Given the description of an element on the screen output the (x, y) to click on. 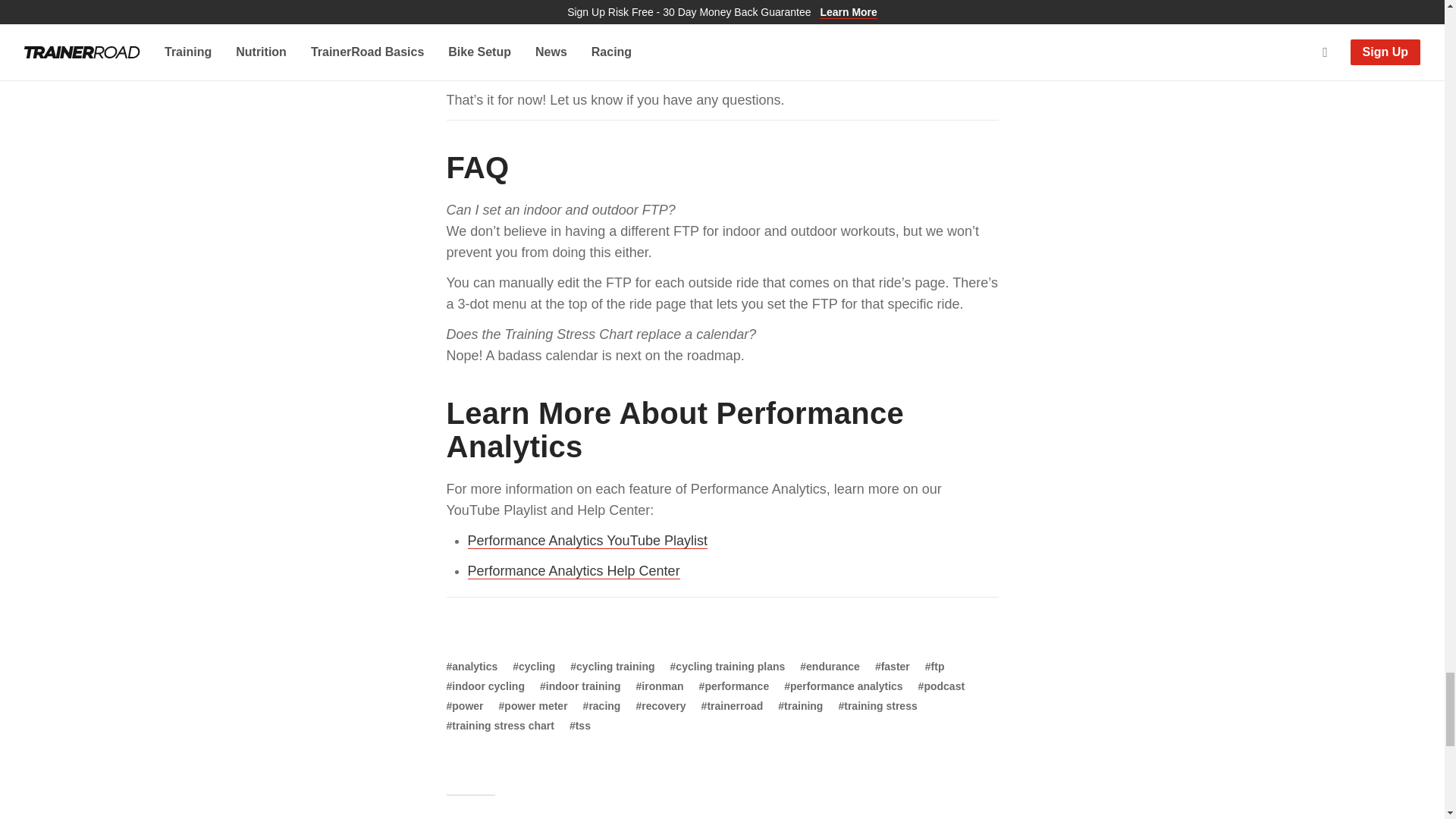
performance (734, 686)
cycling training (611, 666)
training stress chart (499, 725)
analytics (471, 666)
training stress (877, 705)
recovery (659, 705)
Performance Analytics YouTube Playlist (587, 540)
cycling training plans (727, 666)
podcast (940, 686)
power meter (533, 705)
Performance Analytics Help Center (573, 571)
indoor cycling (484, 686)
faster (892, 666)
indoor training (580, 686)
performance analytics (843, 686)
